Given the description of an element on the screen output the (x, y) to click on. 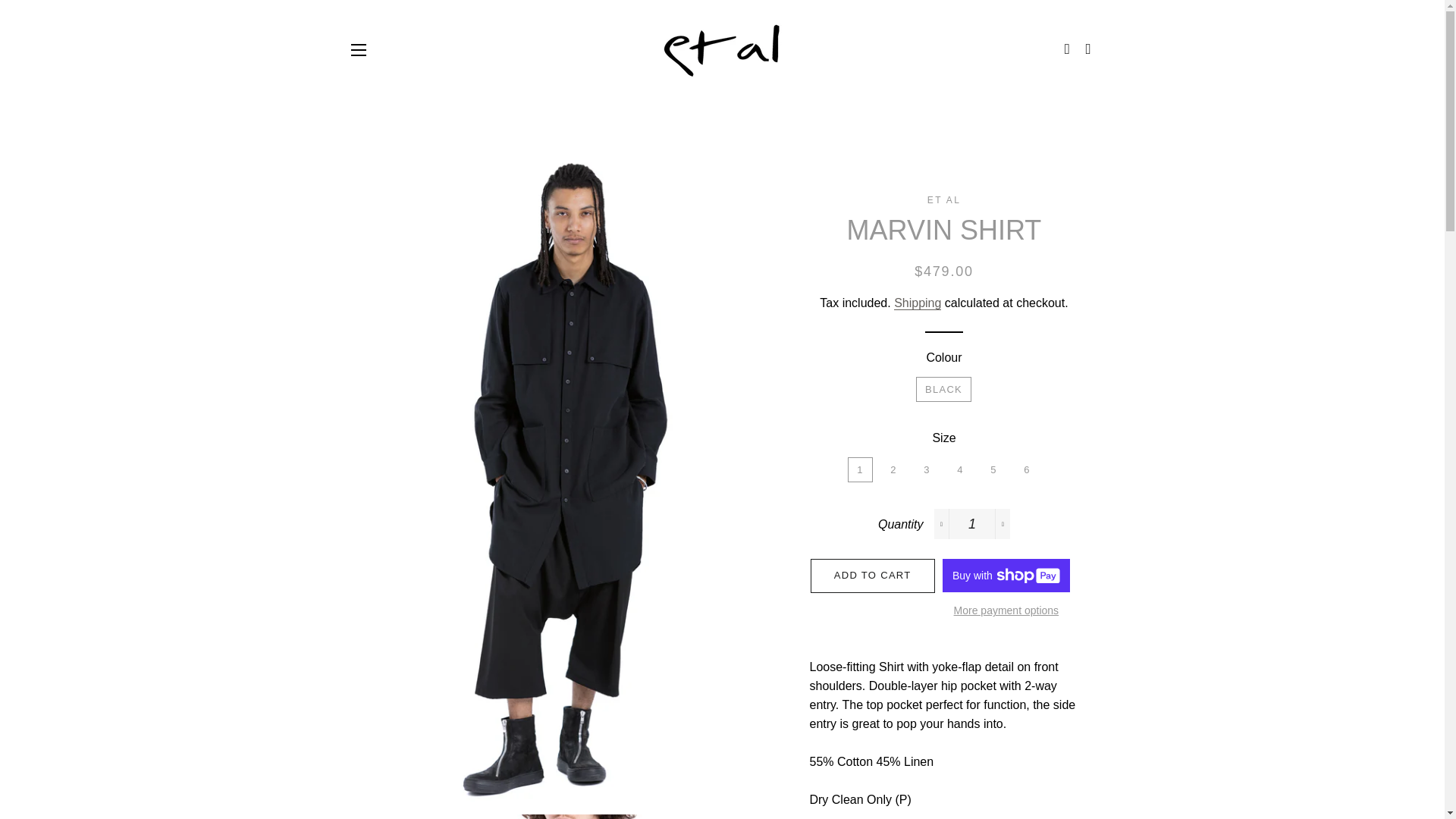
1 (972, 523)
SITE NAVIGATION (358, 49)
